Given the description of an element on the screen output the (x, y) to click on. 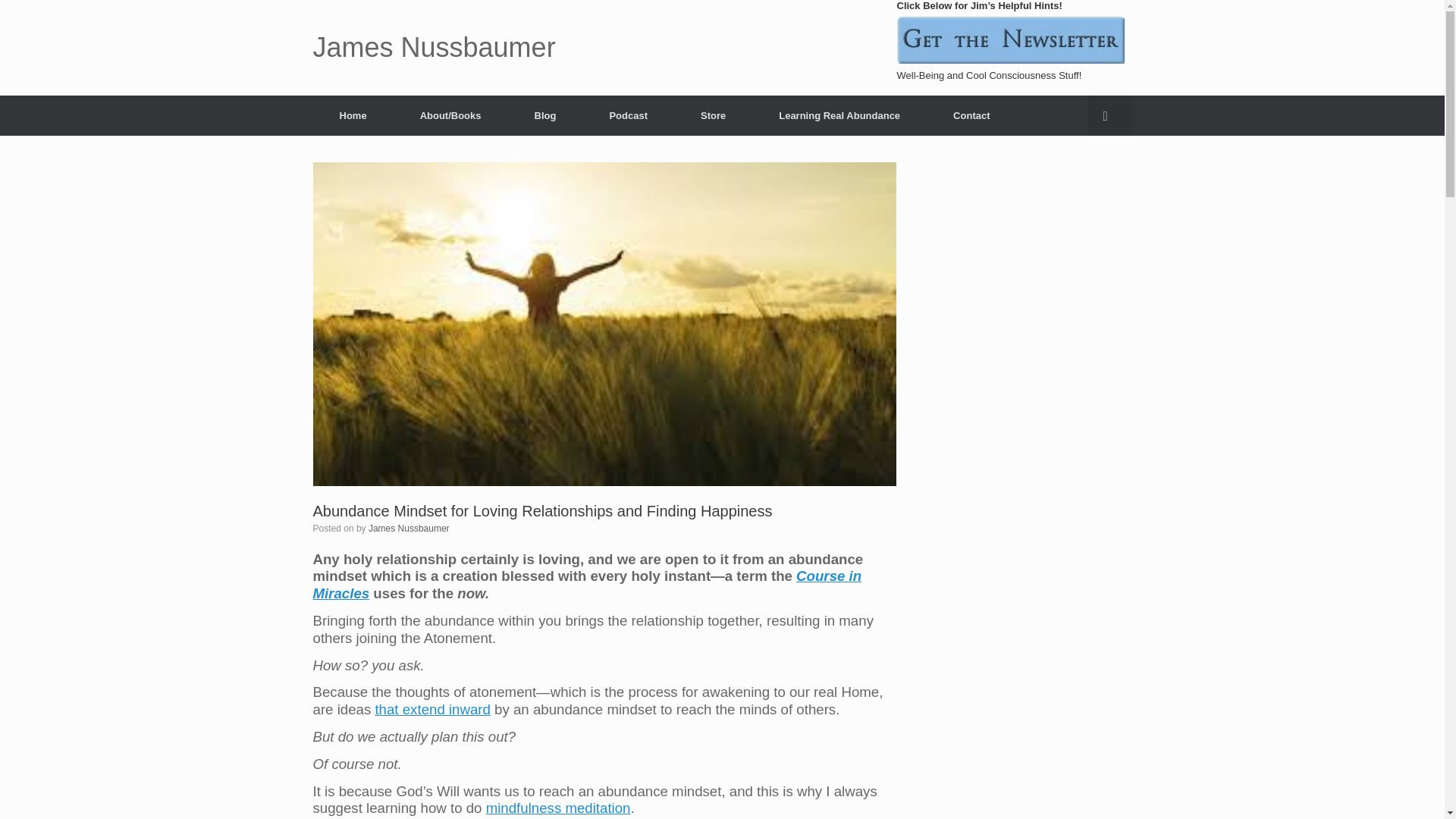
Home (353, 115)
Course in Miracles (587, 584)
Learning Real Abundance (839, 115)
that extend inward (431, 709)
Podcast (628, 115)
Click Below for Jim's Helpful Hints! (1010, 39)
James Nussbaumer (408, 528)
mindfulness meditation (558, 807)
James Nussbaumer (433, 47)
James Nussbaumer (433, 47)
Store (713, 115)
Blog (545, 115)
View all posts by James Nussbaumer (408, 528)
Contact (971, 115)
